Given the description of an element on the screen output the (x, y) to click on. 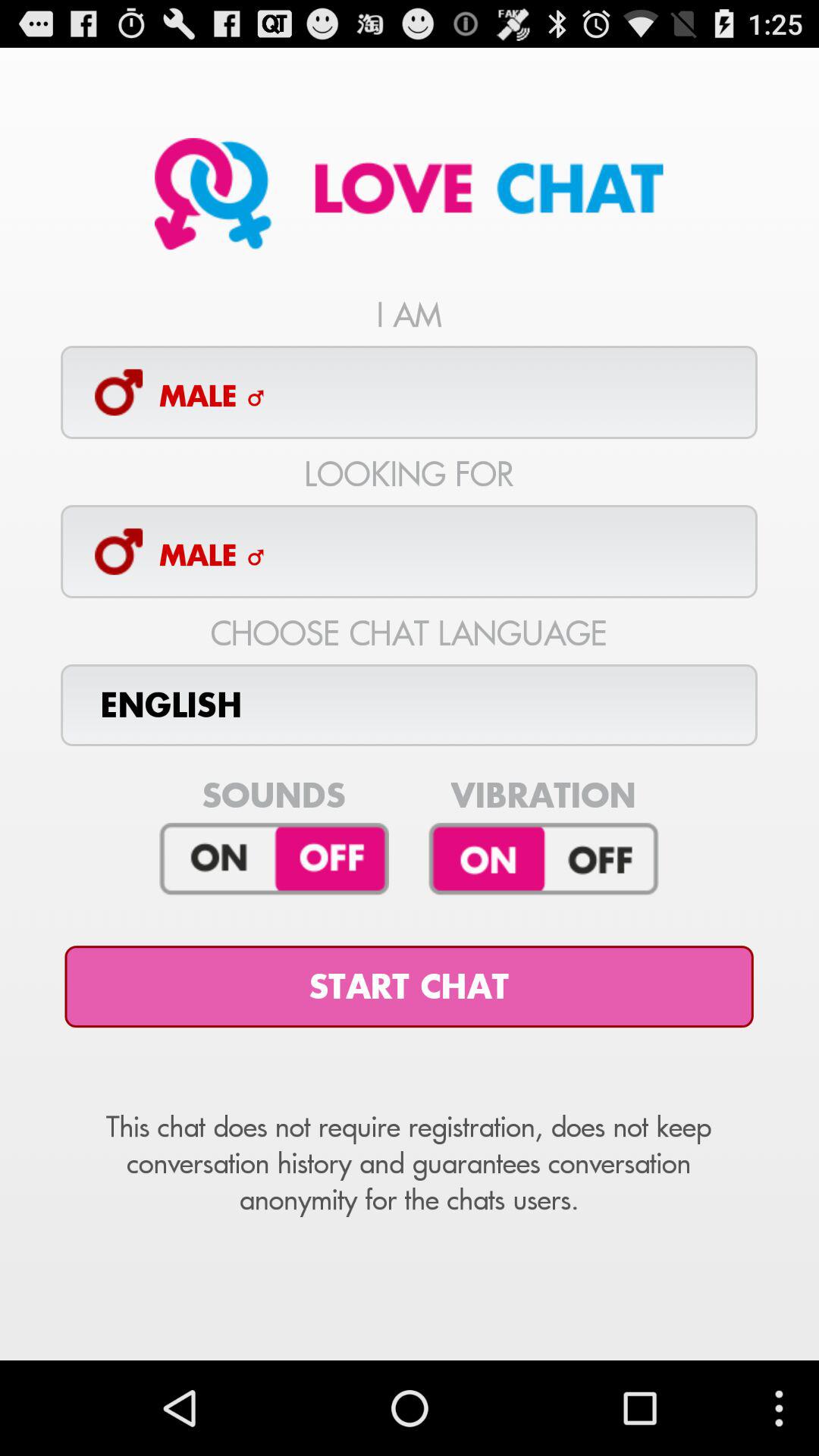
toggle sounds (274, 858)
